Given the description of an element on the screen output the (x, y) to click on. 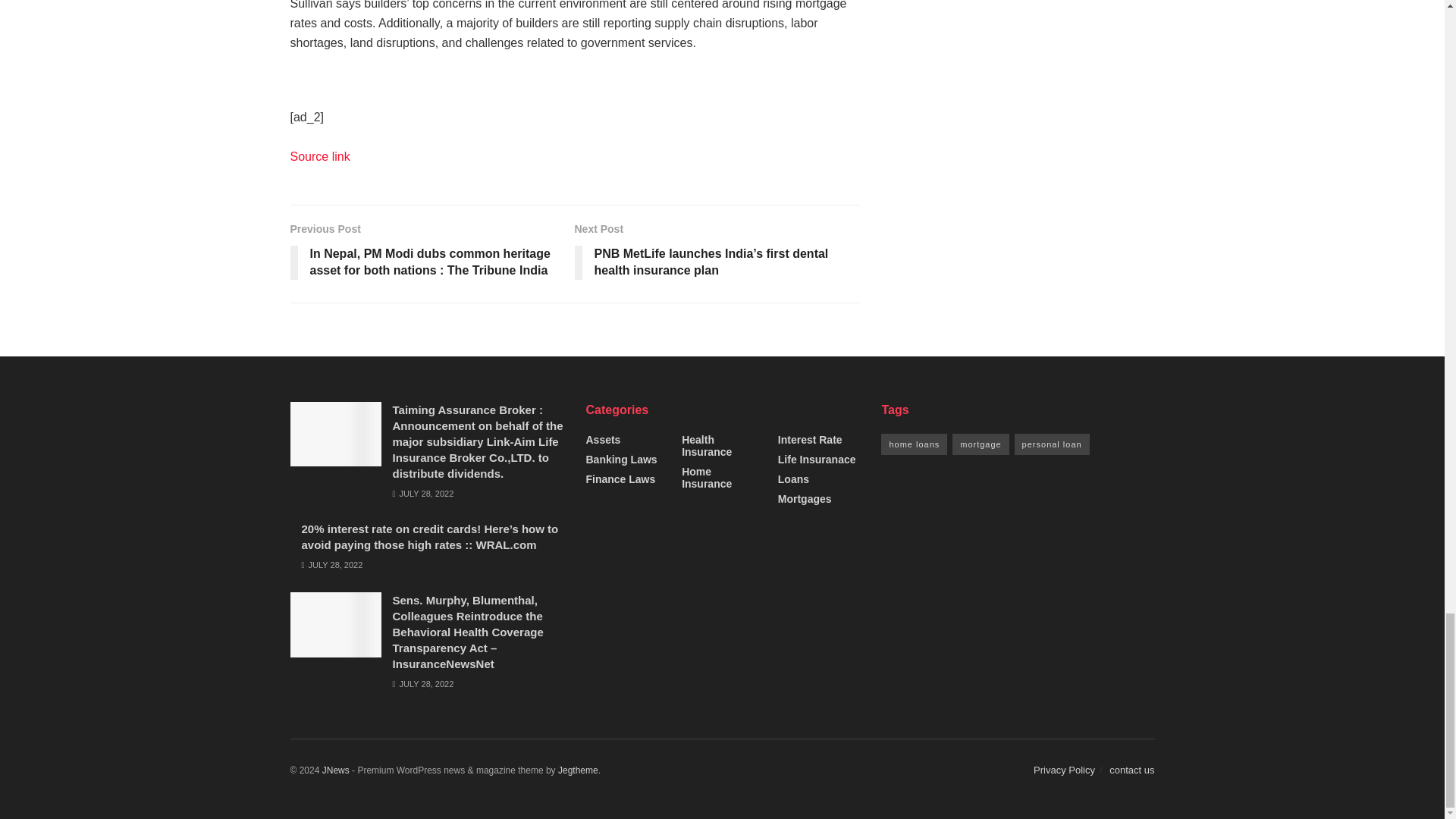
Jegtheme (577, 769)
